Given the description of an element on the screen output the (x, y) to click on. 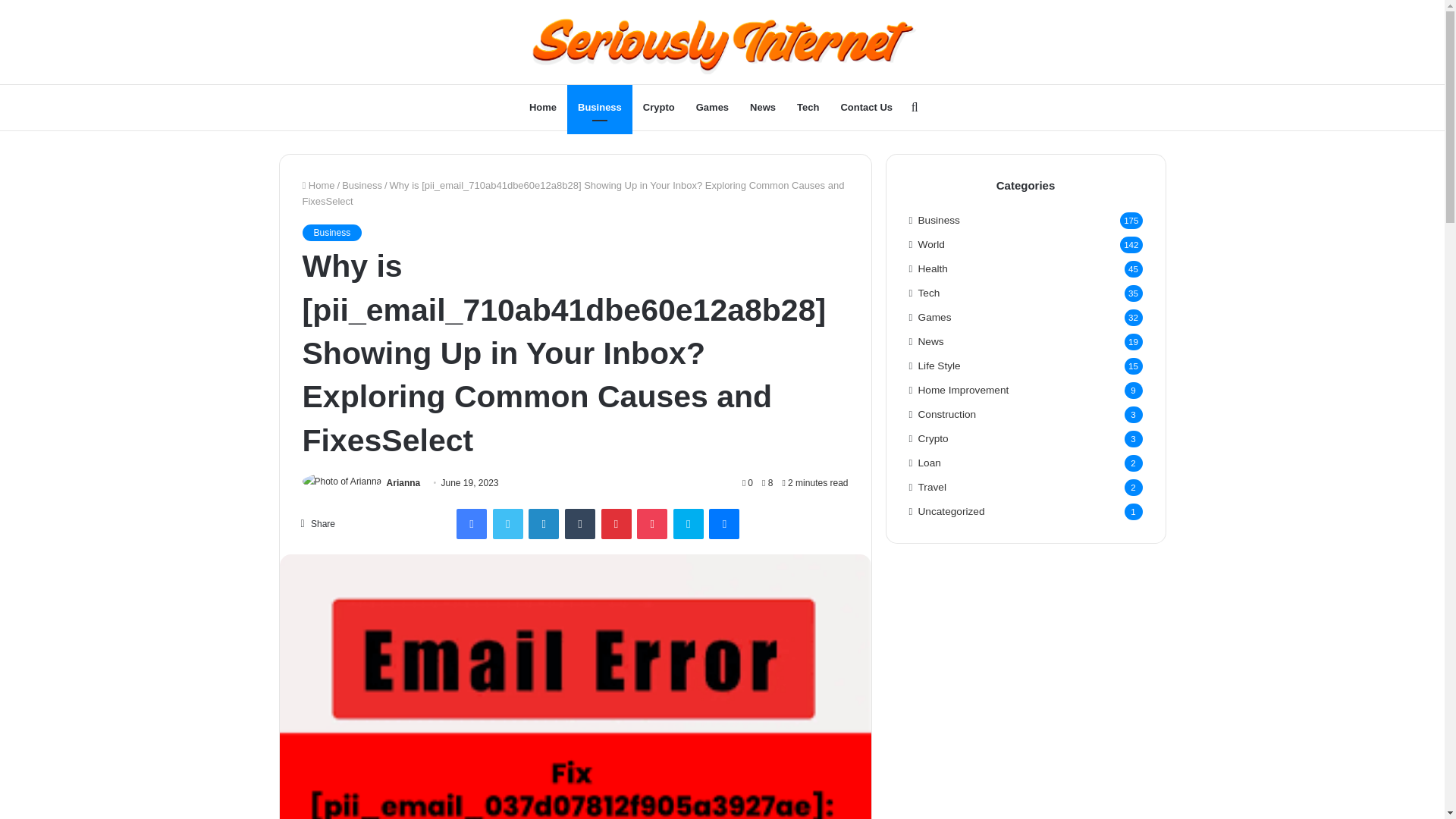
Home (542, 107)
Tech (807, 107)
Pinterest (616, 523)
Seriously Internet (722, 41)
Messenger (724, 523)
News (762, 107)
Tumblr (579, 523)
Business (599, 107)
Contact Us (865, 107)
Pocket (651, 523)
Skype (687, 523)
Arianna (403, 482)
Facebook (471, 523)
LinkedIn (543, 523)
Twitter (507, 523)
